Given the description of an element on the screen output the (x, y) to click on. 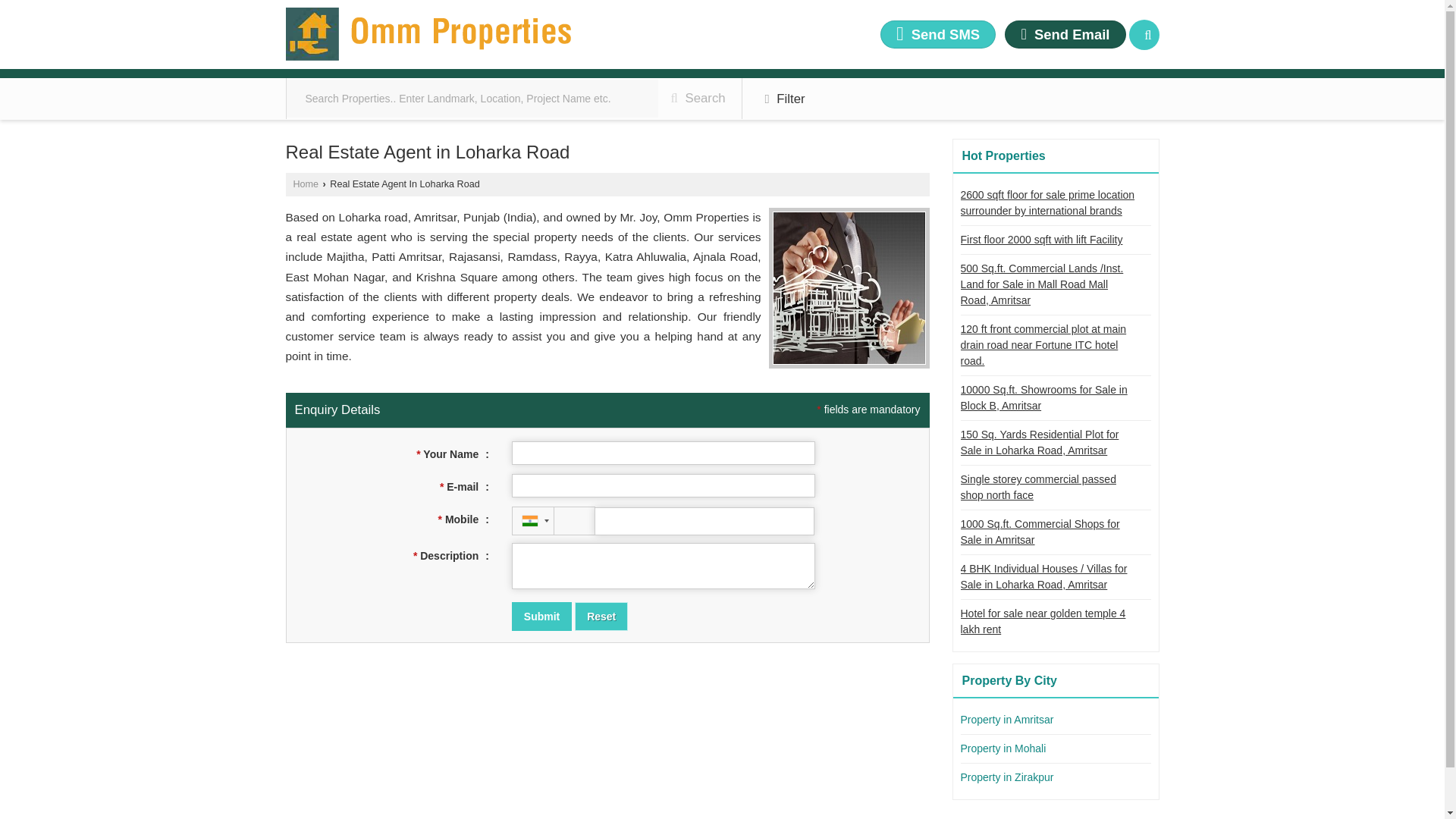
Home (305, 184)
Submit (542, 615)
Search (698, 97)
Filter (785, 98)
Send Email (1064, 34)
Send SMS (937, 34)
Search (1143, 34)
Omm properties (428, 34)
Reset (601, 615)
